Given the description of an element on the screen output the (x, y) to click on. 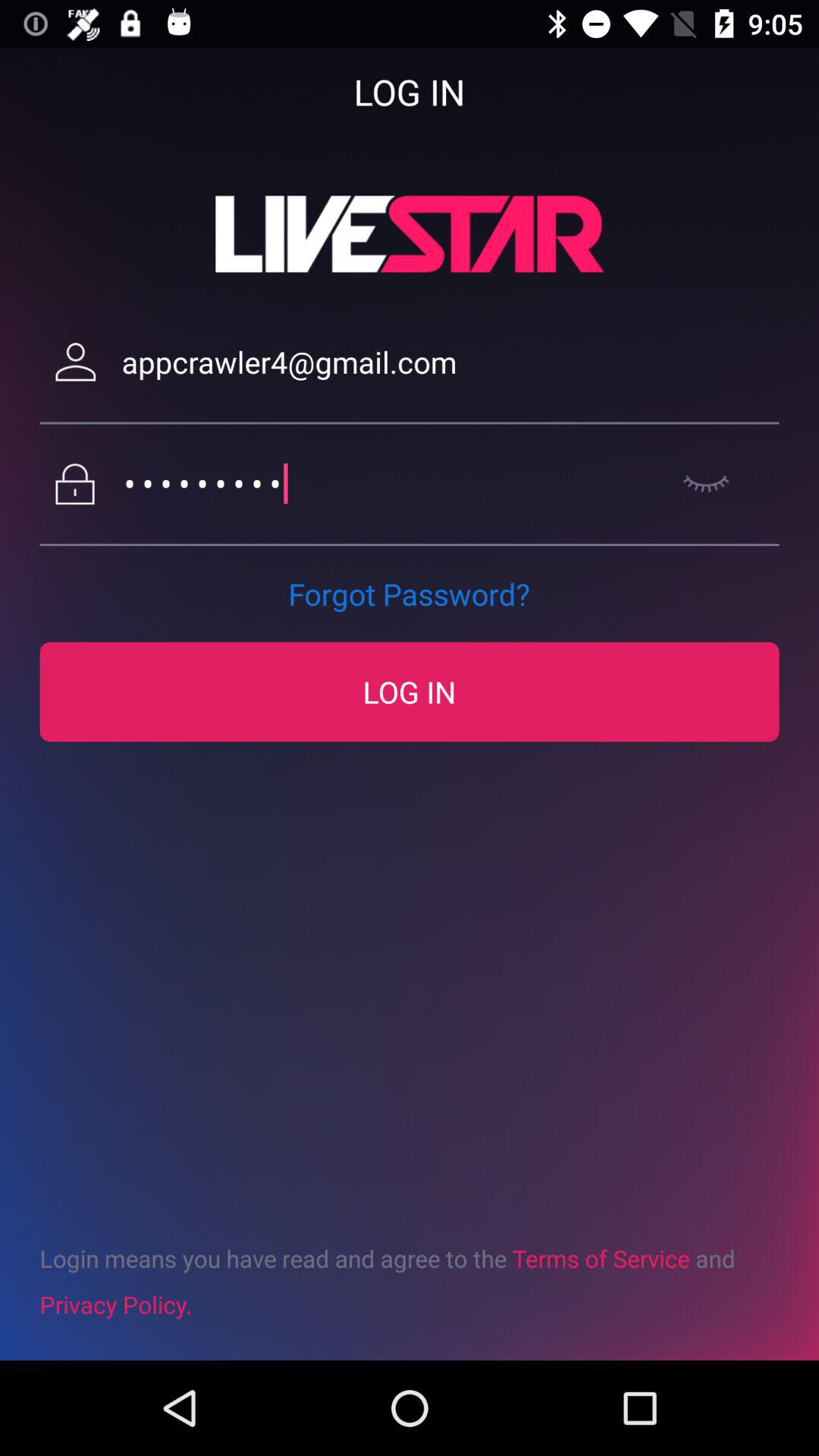
open item above log in icon (409, 593)
